Given the description of an element on the screen output the (x, y) to click on. 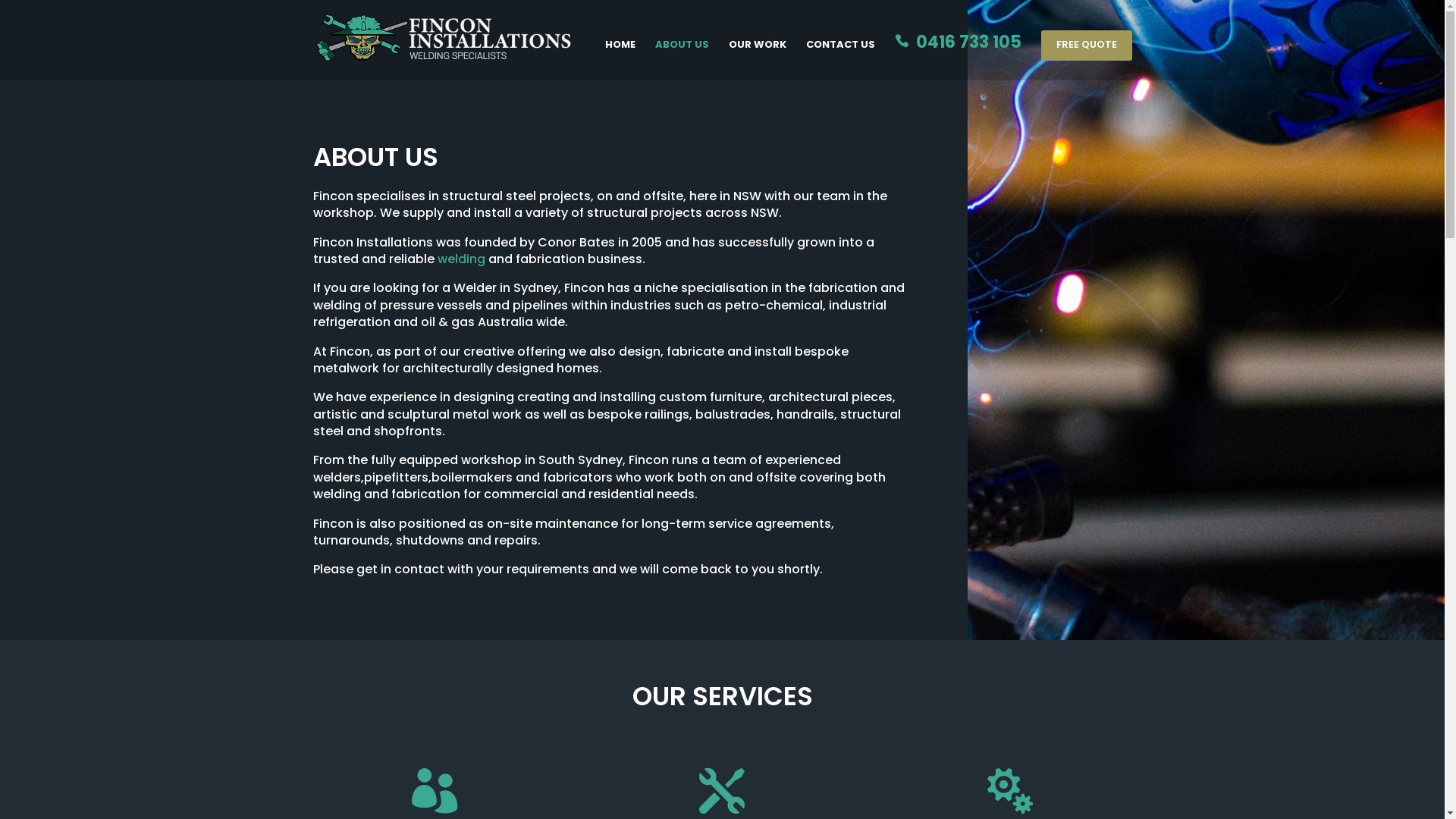
HOME Element type: text (620, 59)
OUR WORK Element type: text (756, 59)
0416 733 105 Element type: text (957, 57)
ABOUT US Element type: text (682, 59)
CONTACT US Element type: text (839, 59)
welding Element type: text (460, 258)
FREE QUOTE Element type: text (1085, 45)
